Given the description of an element on the screen output the (x, y) to click on. 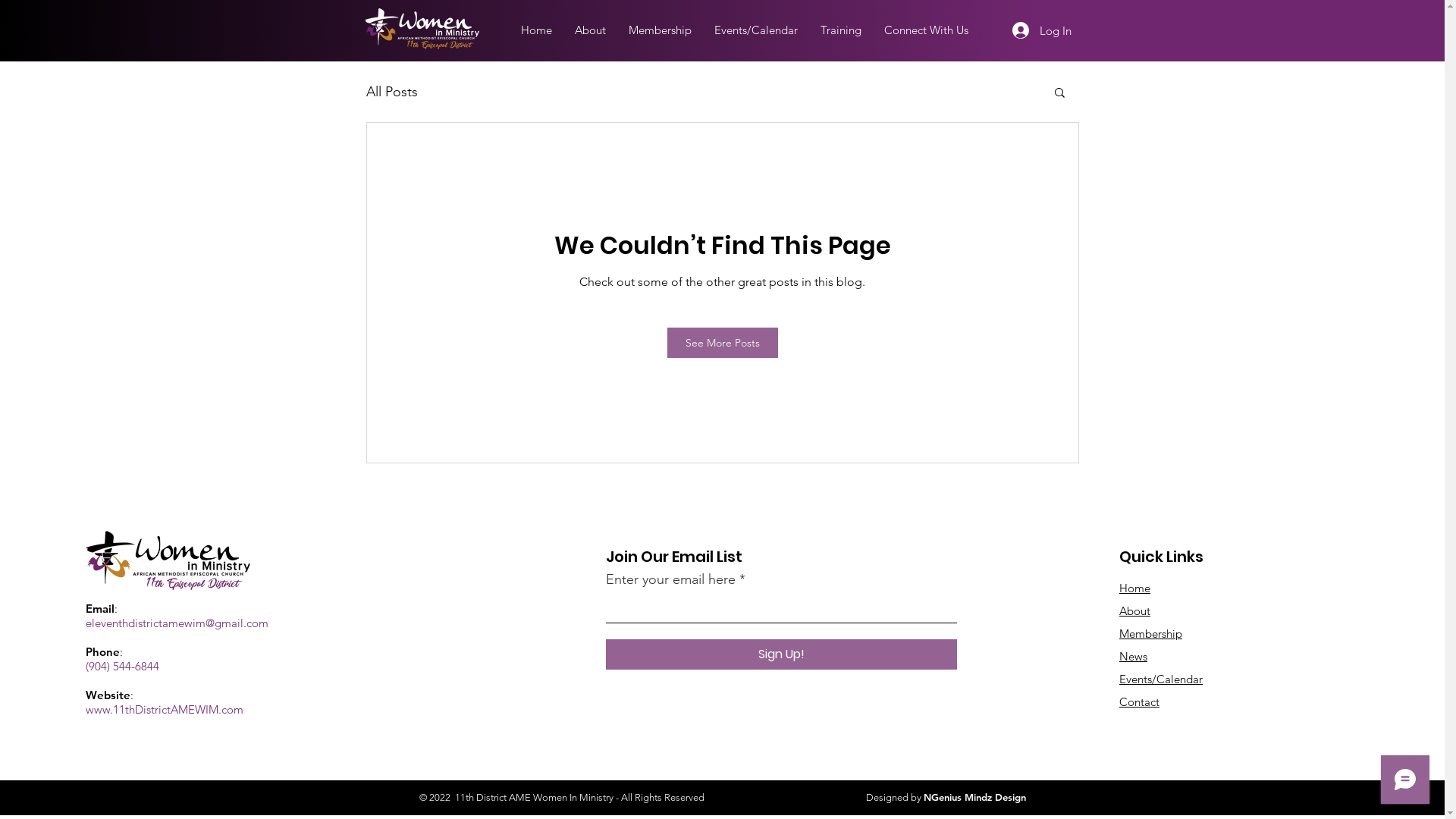
Contact Element type: text (1139, 701)
Log In Element type: text (1041, 30)
News Element type: text (1133, 656)
See More Posts Element type: text (722, 342)
www.11thDistrictAMEWIM.com Element type: text (164, 709)
About Element type: text (1134, 610)
(904) 544-6844 Element type: text (122, 665)
Membership Element type: text (1150, 633)
NGenius Mindz Design Element type: text (974, 796)
Events/Calendar Element type: text (1160, 678)
Home Element type: text (1134, 587)
Home Element type: text (536, 30)
About Element type: text (590, 30)
Training Element type: text (840, 30)
All Posts Element type: text (391, 91)
Connect With Us Element type: text (925, 30)
Sign Up! Element type: text (781, 654)
eleventhdistrictamewim@gmail.com Element type: text (176, 622)
Events/Calendar Element type: text (755, 30)
Membership Element type: text (659, 30)
